Given the description of an element on the screen output the (x, y) to click on. 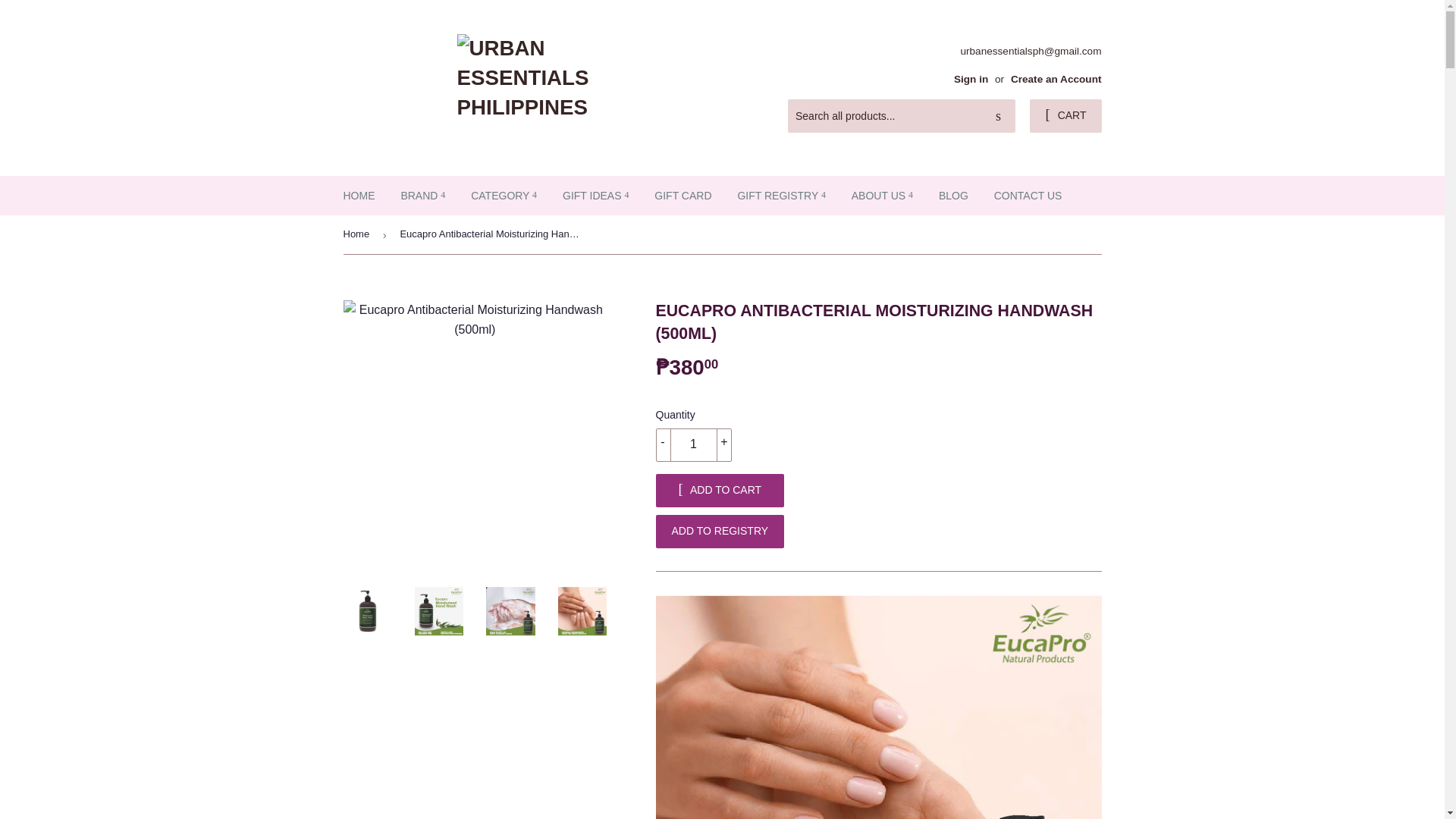
Add to Registry (719, 531)
CART (1064, 115)
Create an Account (1056, 79)
Search (997, 116)
Sign in (970, 79)
1 (692, 444)
